Given the description of an element on the screen output the (x, y) to click on. 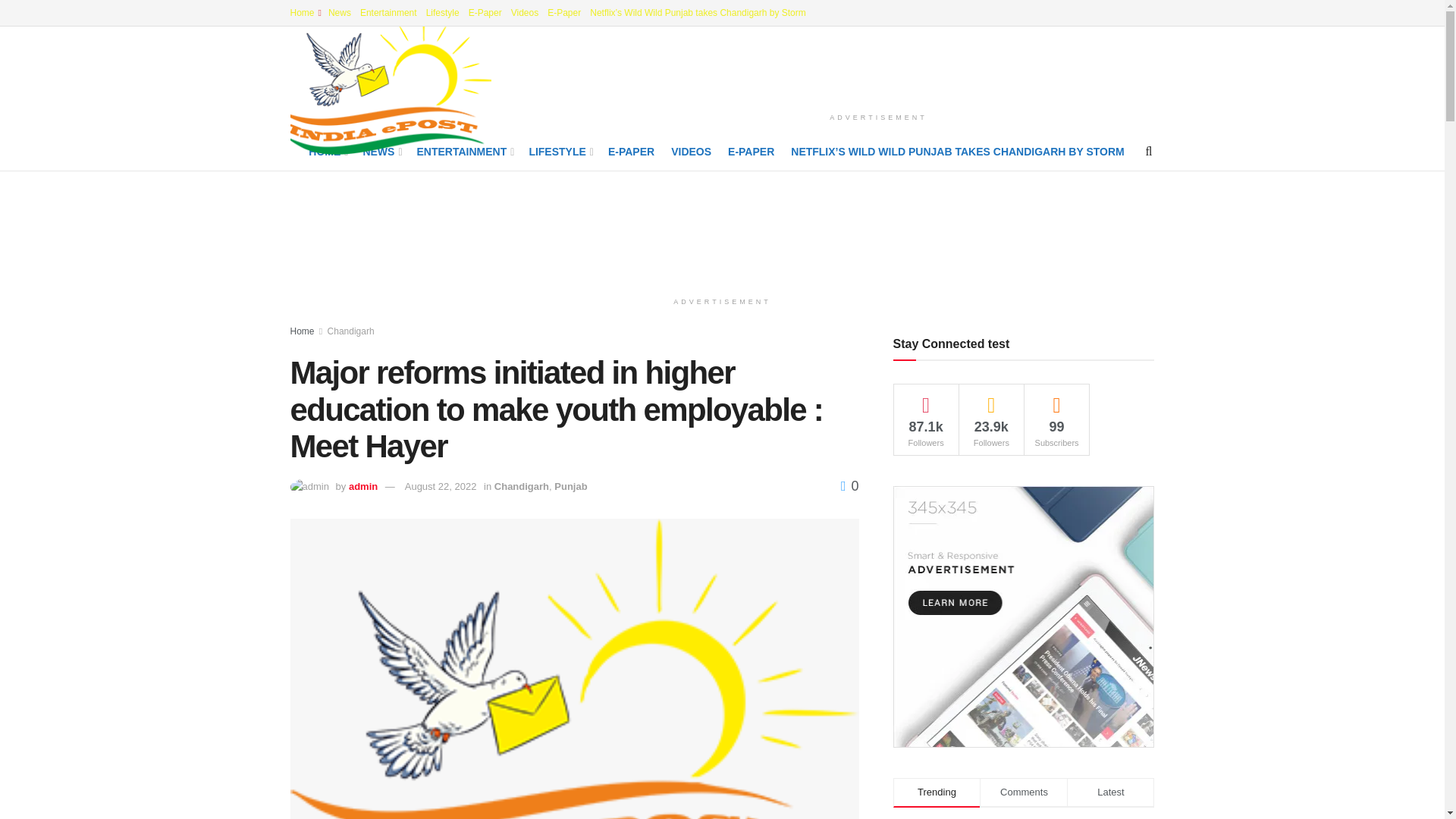
Advertisement (878, 66)
Entertainment (387, 12)
News (339, 12)
NEWS (380, 151)
HOME (327, 151)
E-Paper (563, 12)
Videos (524, 12)
E-Paper (485, 12)
Lifestyle (443, 12)
Advertisement (722, 228)
Home (303, 12)
